Given the description of an element on the screen output the (x, y) to click on. 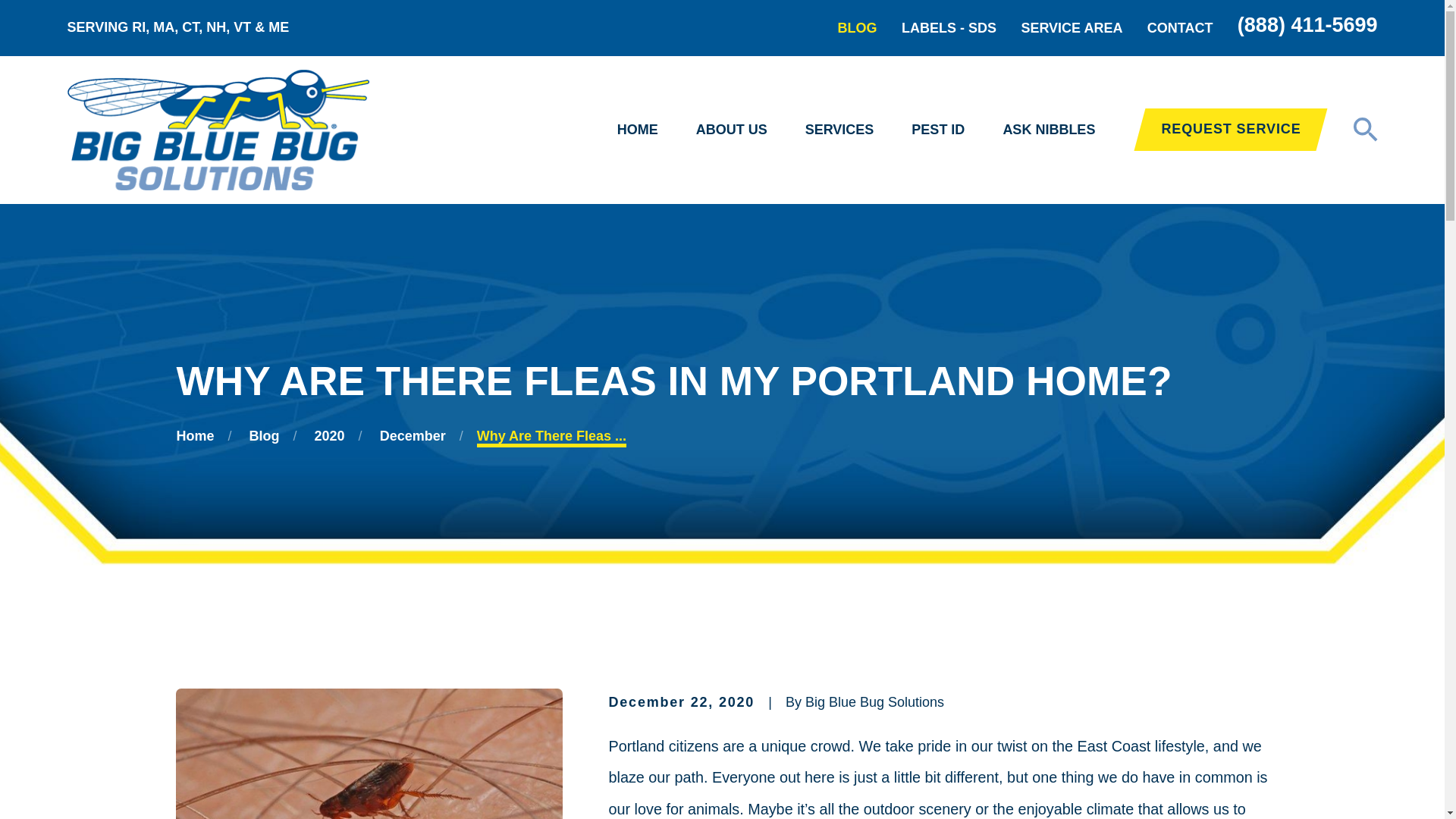
SERVICE AREA (1071, 28)
CONTACT (1179, 28)
BLOG (857, 28)
SERVICES (840, 129)
LABELS - SDS (948, 28)
Go Home (195, 435)
Home (217, 129)
ABOUT US (731, 129)
PEST ID (937, 129)
